Given the description of an element on the screen output the (x, y) to click on. 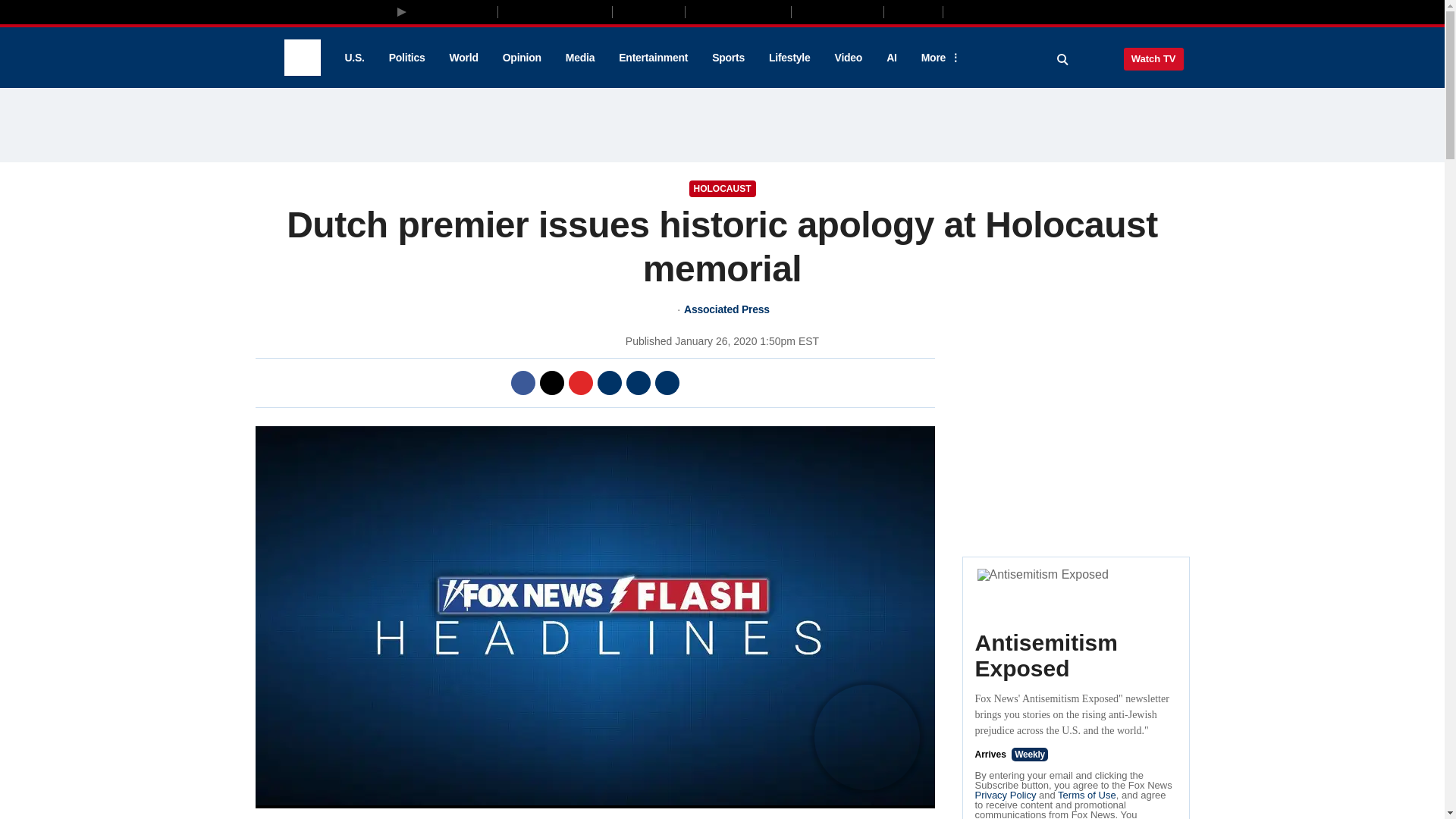
Sports (728, 57)
Watch TV (1153, 58)
U.S. (353, 57)
Fox News (301, 57)
World (464, 57)
Fox Business (554, 11)
Outkick (912, 11)
Entertainment (653, 57)
Video (848, 57)
Fox Nation (648, 11)
